Given the description of an element on the screen output the (x, y) to click on. 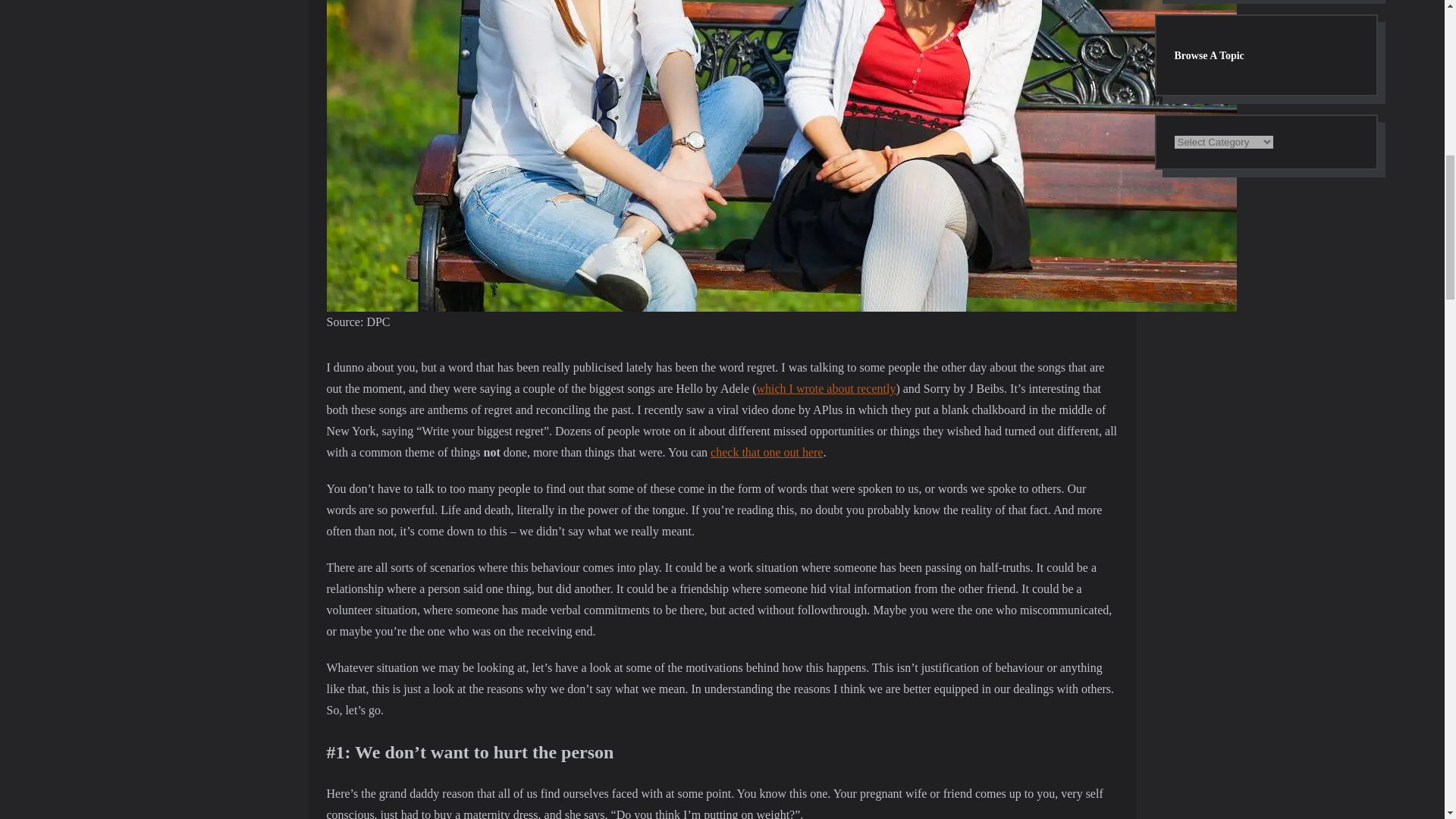
Browse A Topic (1265, 55)
